Given the description of an element on the screen output the (x, y) to click on. 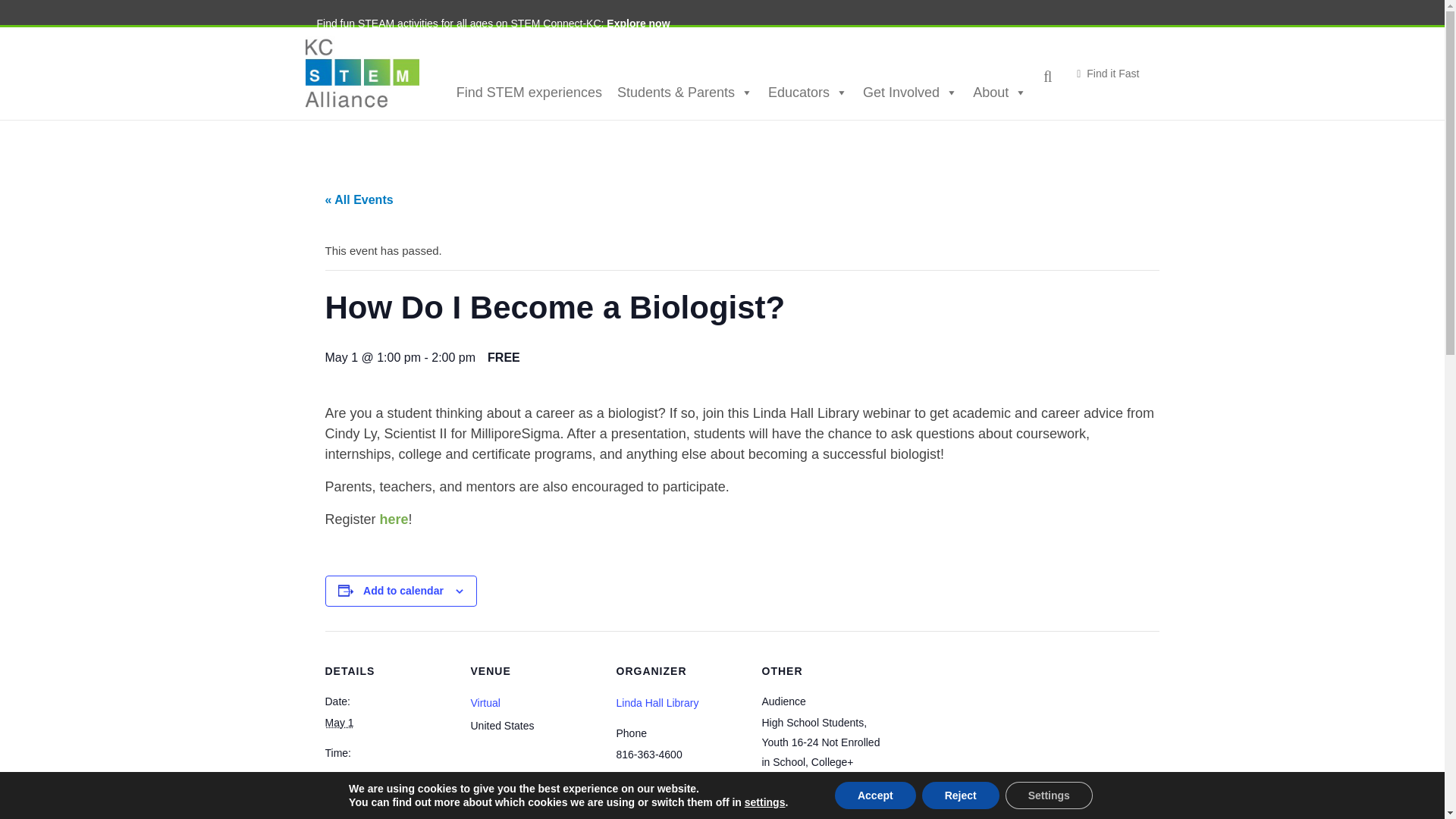
2024-05-01 (387, 774)
Find STEM experiences (529, 91)
2024-05-01 (338, 722)
Explore now (638, 23)
Educators (808, 91)
Linda Hall Library (656, 702)
Get Involved (910, 91)
